Given the description of an element on the screen output the (x, y) to click on. 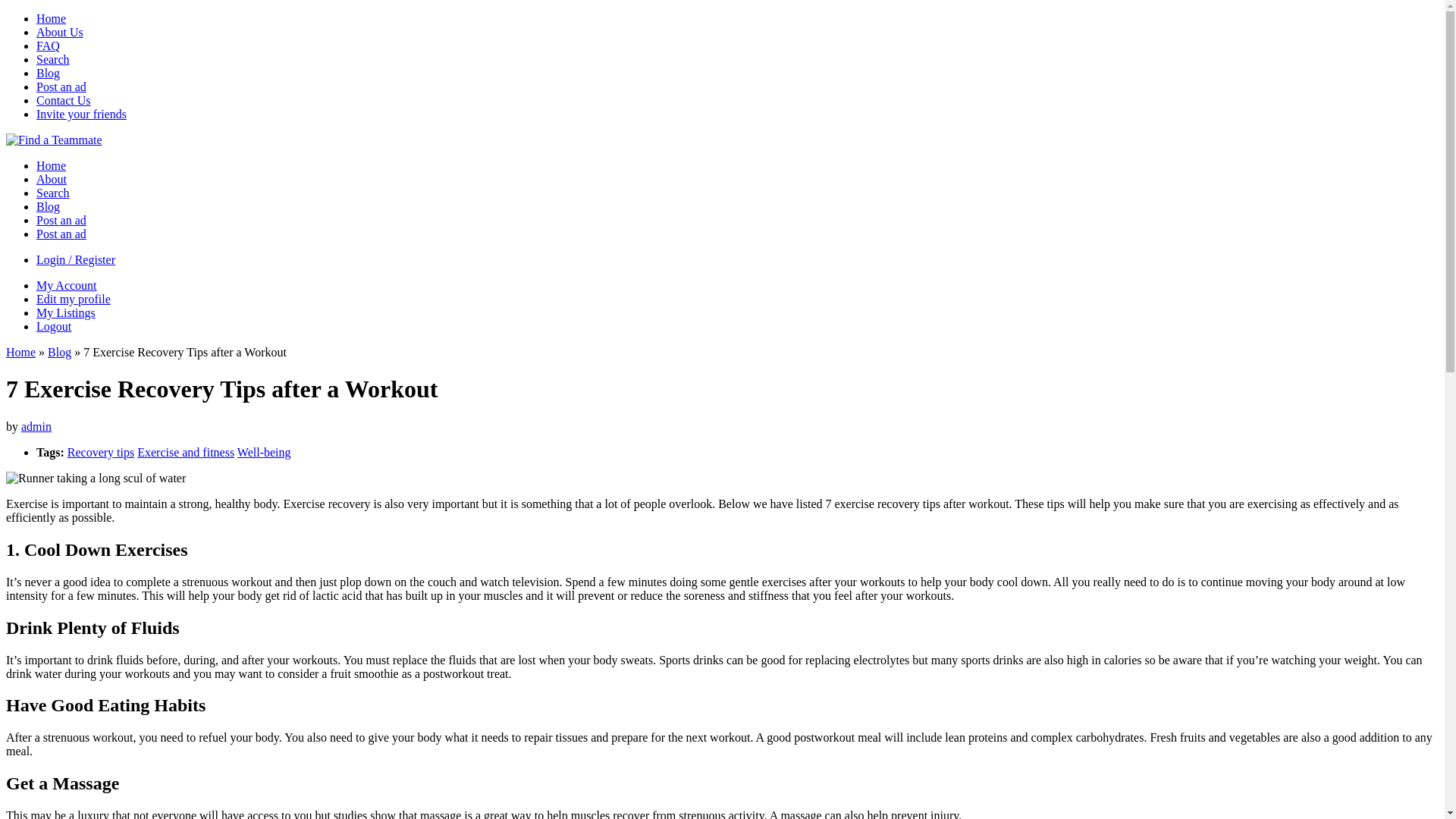
Logout Element type: text (53, 326)
FAQ Element type: text (47, 45)
About Us Element type: text (59, 31)
Search Element type: text (52, 59)
Blog Element type: text (47, 206)
Exercise and fitness Element type: text (185, 451)
admin Element type: text (36, 426)
Well-being Element type: text (264, 451)
Blog Element type: text (47, 72)
My Account Element type: text (66, 285)
Edit my profile Element type: text (73, 298)
Login / Register Element type: text (75, 259)
Post an ad Element type: text (61, 219)
About Element type: text (51, 178)
Search Element type: text (52, 192)
Invite your friends Element type: text (81, 113)
Recovery tips Element type: text (100, 451)
Home Element type: text (50, 18)
Blog Element type: text (59, 351)
Post an ad Element type: text (61, 233)
My Listings Element type: text (65, 312)
Post an ad Element type: text (61, 86)
Home Element type: text (20, 351)
Contact Us Element type: text (63, 100)
Home Element type: text (50, 165)
